Given the description of an element on the screen output the (x, y) to click on. 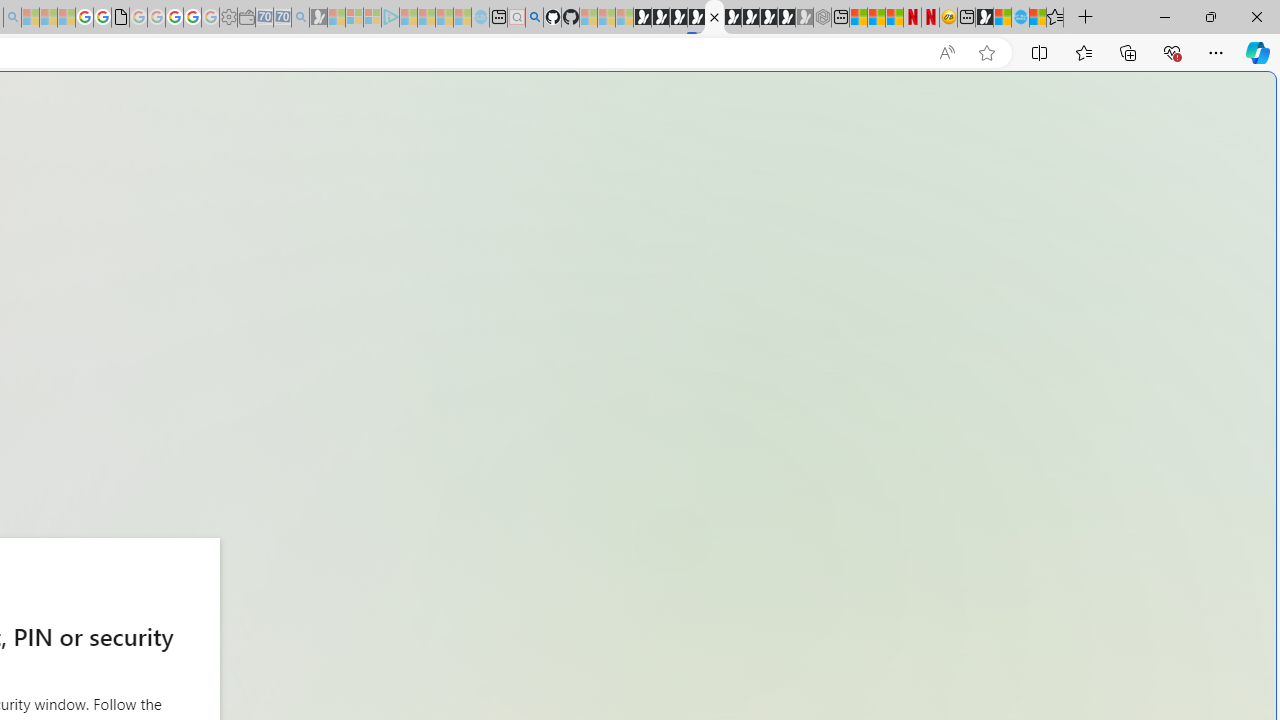
Play Cave FRVR in your browser | Games from Microsoft Start (678, 17)
Tabs you've opened (276, 265)
Sign in to your account (714, 17)
Home | Sky Blue Bikes - Sky Blue Bikes - Sleeping (480, 17)
Home | Sky Blue Bikes - Sky Blue Bikes (1020, 17)
